Given the description of an element on the screen output the (x, y) to click on. 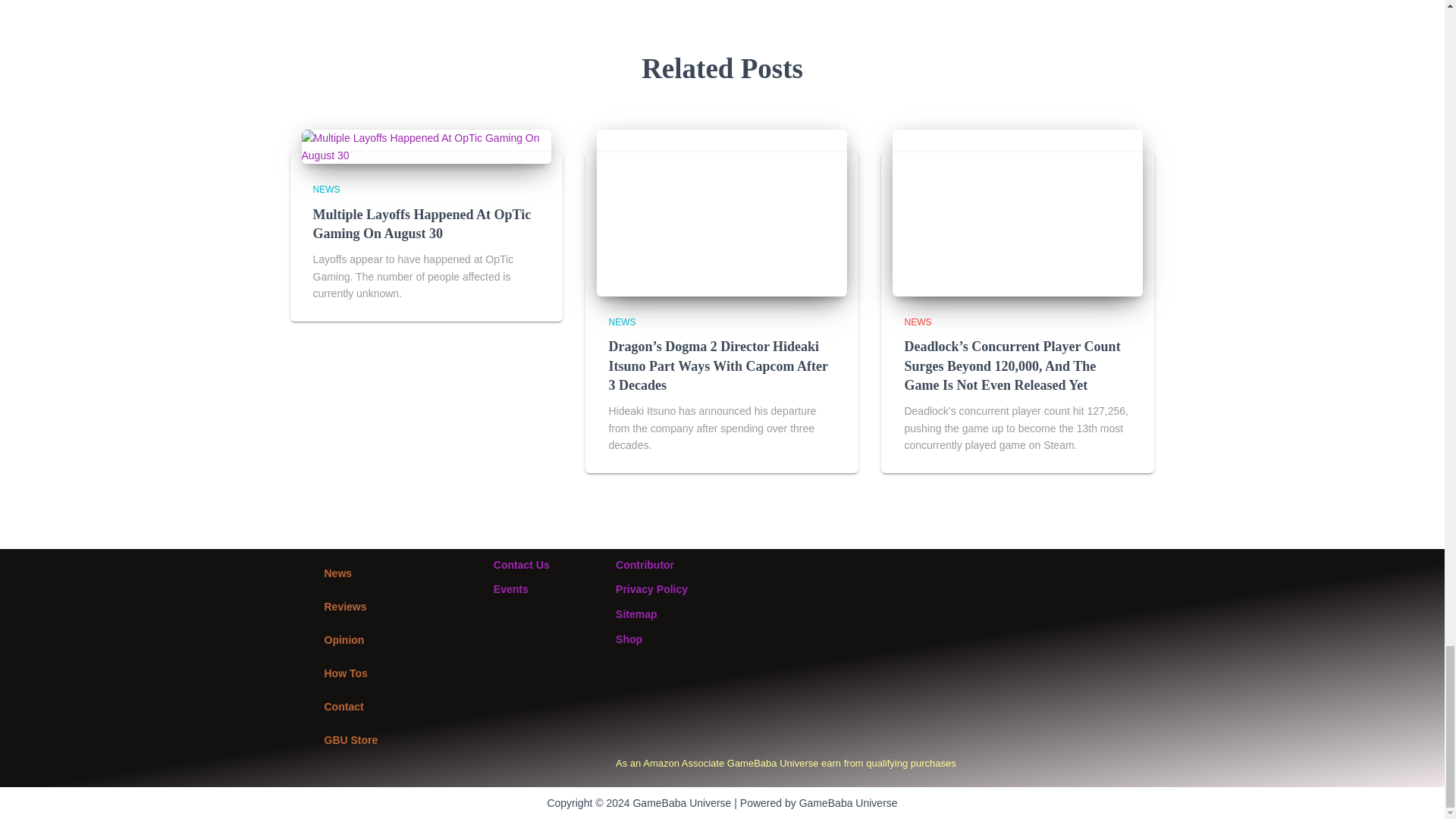
Multiple Layoffs Happened At OpTic Gaming On August 30 (422, 223)
Multiple Layoffs Happened At OpTic Gaming On August 30 (426, 145)
View all posts in News (326, 189)
View all posts in News (917, 321)
View all posts in News (621, 321)
